Given the description of an element on the screen output the (x, y) to click on. 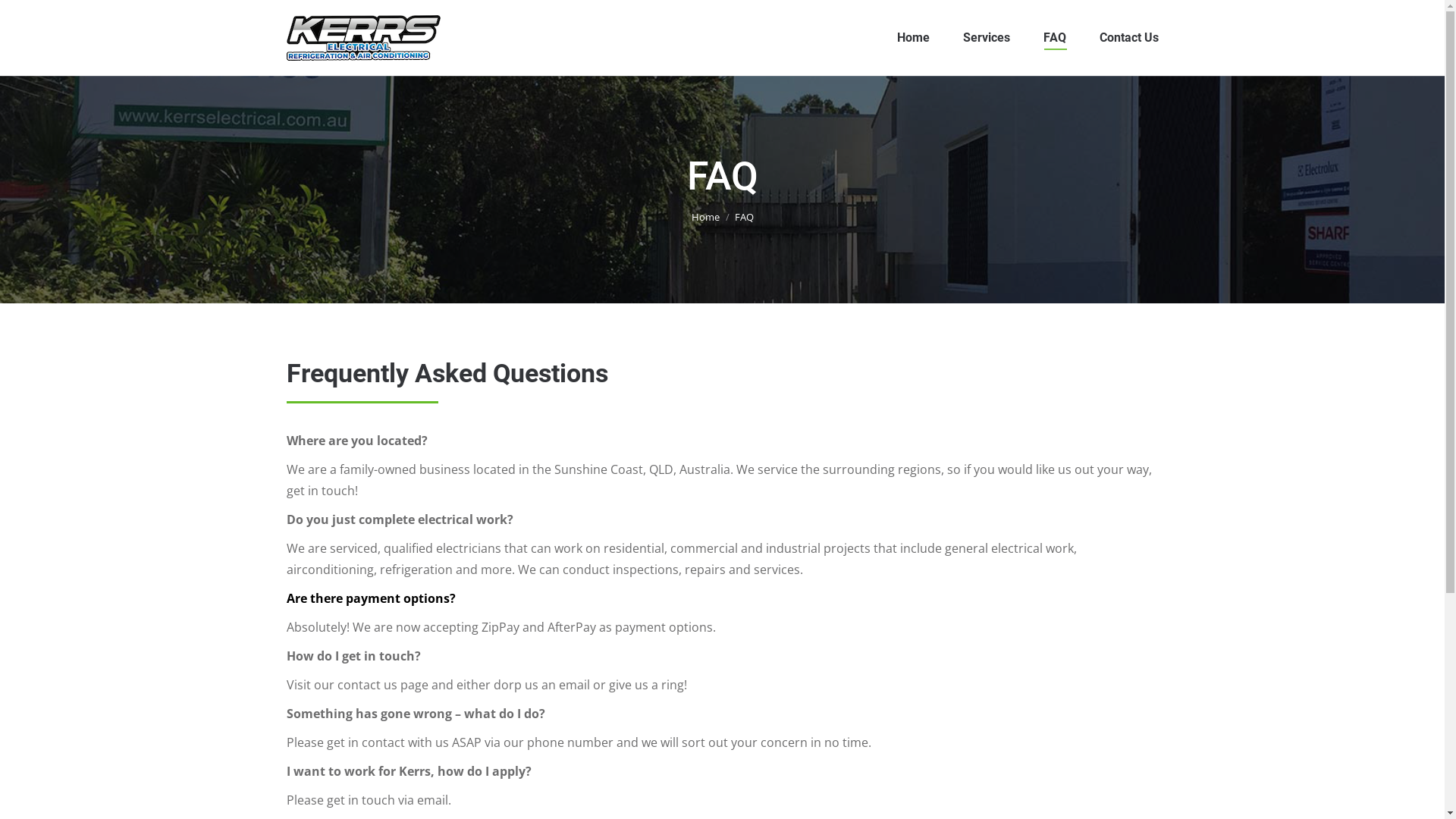
Home Element type: text (912, 37)
Contact Us Element type: text (1128, 37)
Services Element type: text (986, 37)
FAQ Element type: text (1054, 37)
Home Element type: text (705, 215)
